Given the description of an element on the screen output the (x, y) to click on. 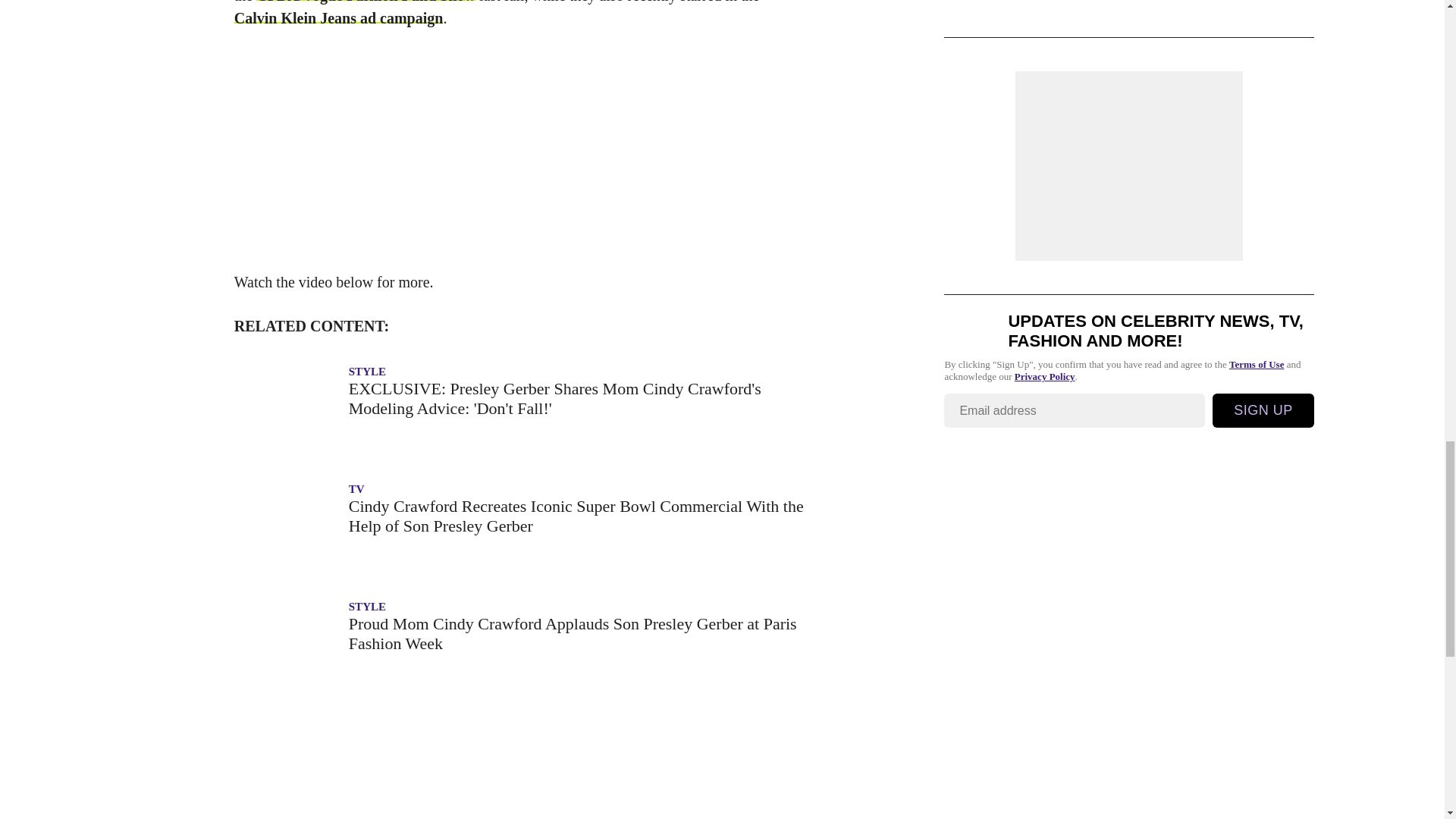
Calvin Klein Jeans ad campaign (339, 17)
